Given the description of an element on the screen output the (x, y) to click on. 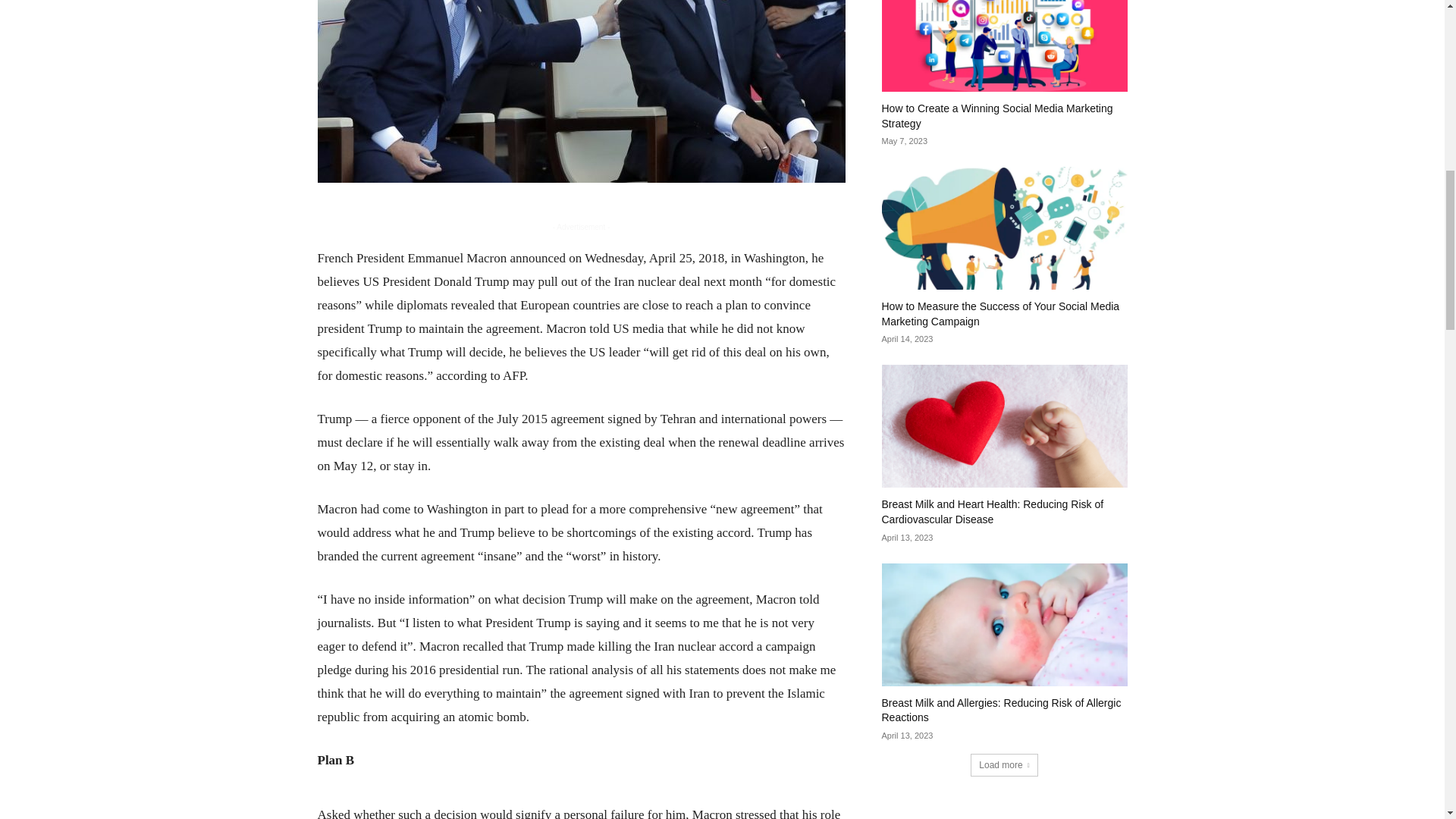
macron trump (580, 91)
